Given the description of an element on the screen output the (x, y) to click on. 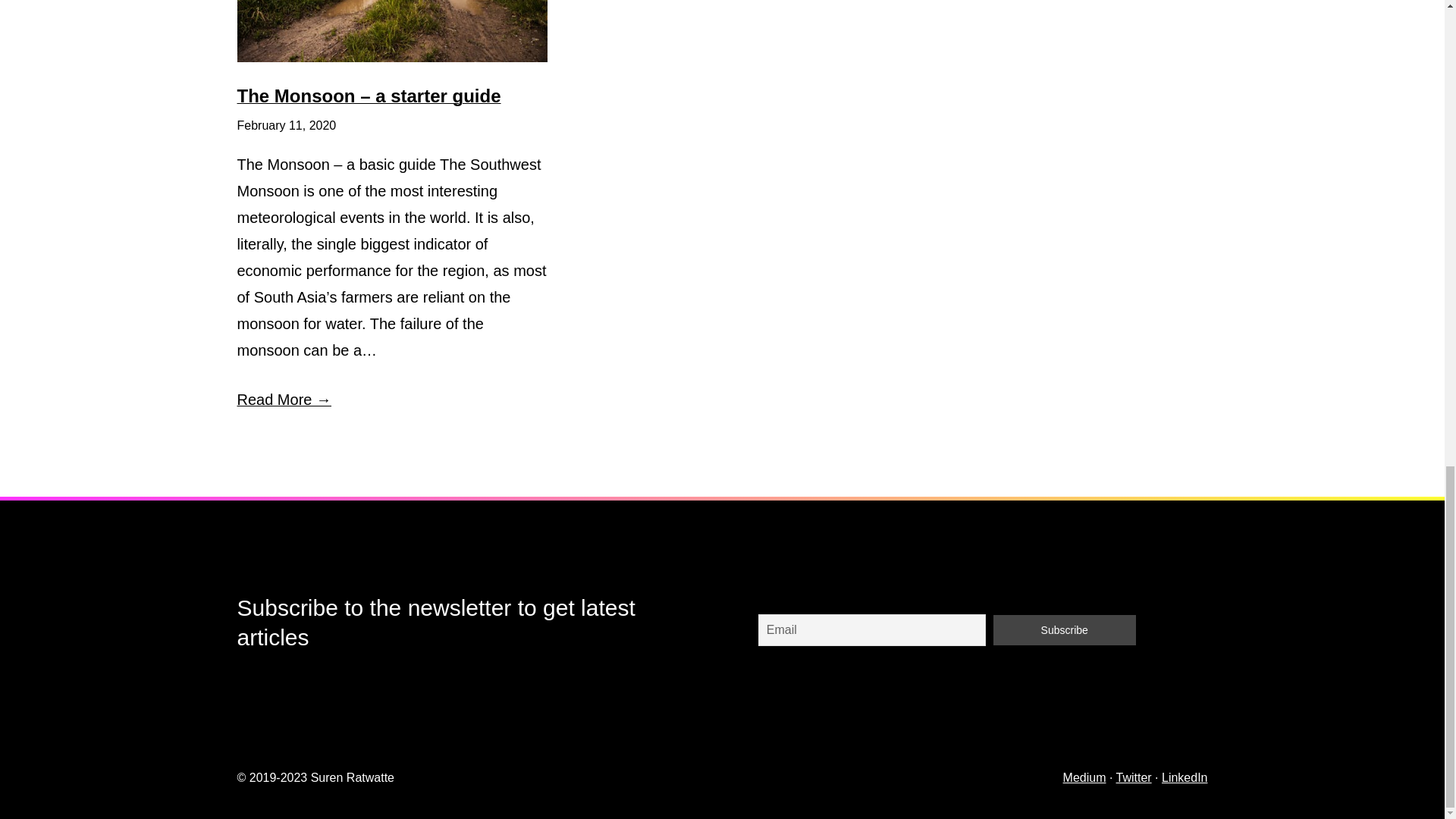
Subscribe (1063, 630)
LinkedIn (1184, 777)
Medium (1084, 777)
Twitter (1133, 777)
Subscribe (1063, 630)
